Given the description of an element on the screen output the (x, y) to click on. 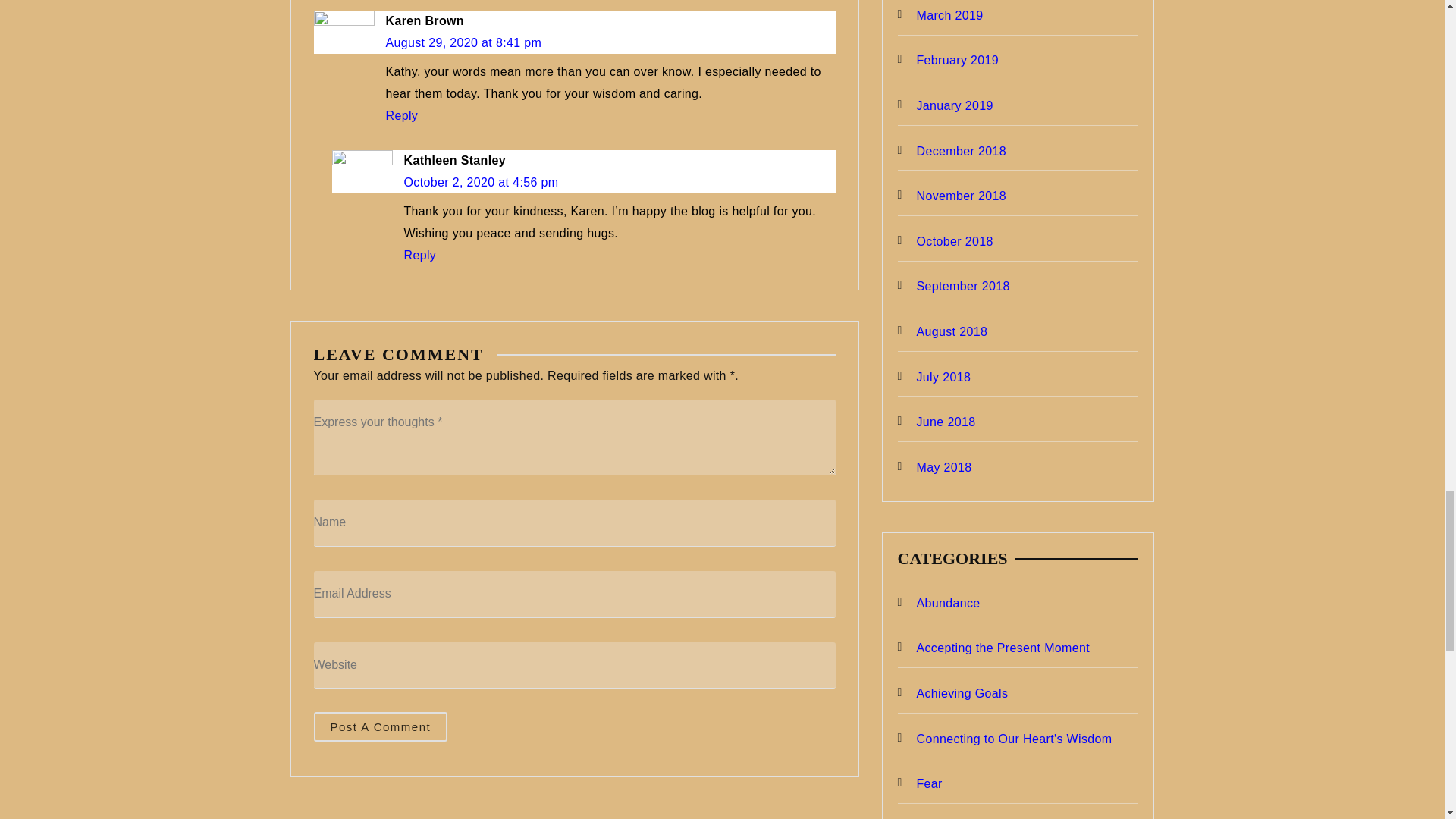
October 2, 2020 at 4:56 pm (480, 182)
August 29, 2020 at 8:41 pm (463, 42)
Reply (419, 254)
Post A Comment (381, 726)
Reply (401, 115)
Post A Comment (381, 726)
